Given the description of an element on the screen output the (x, y) to click on. 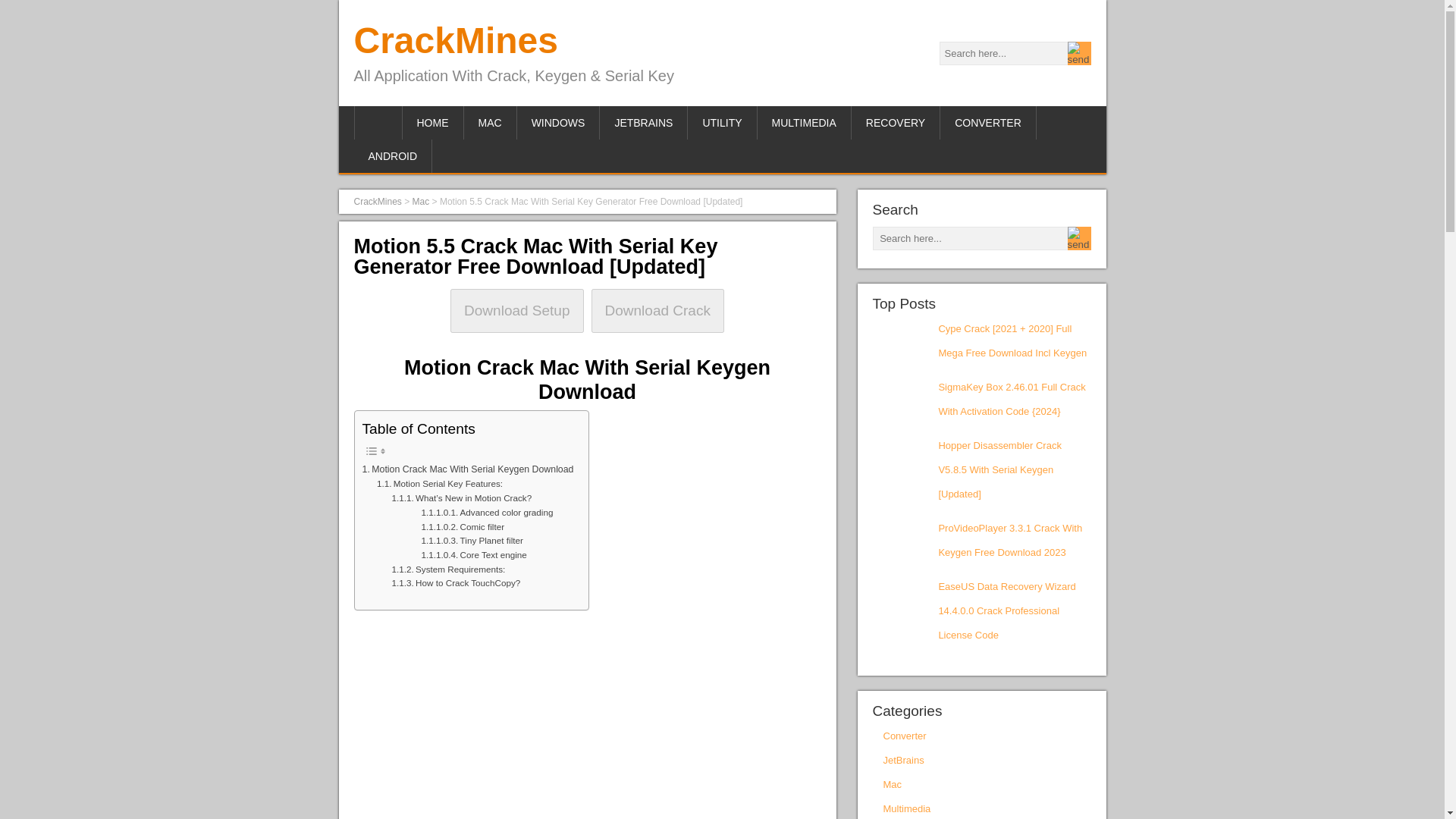
Mac (420, 201)
Download Crack (657, 310)
Motion Crack Mac With Serial Keygen Download (467, 469)
Download SetupDownload Crack (586, 310)
Download Setup (516, 310)
HOME (432, 122)
Motion Serial Key Features: (439, 483)
System Requirements: (448, 569)
MAC (490, 122)
CONVERTER (988, 122)
